Given the description of an element on the screen output the (x, y) to click on. 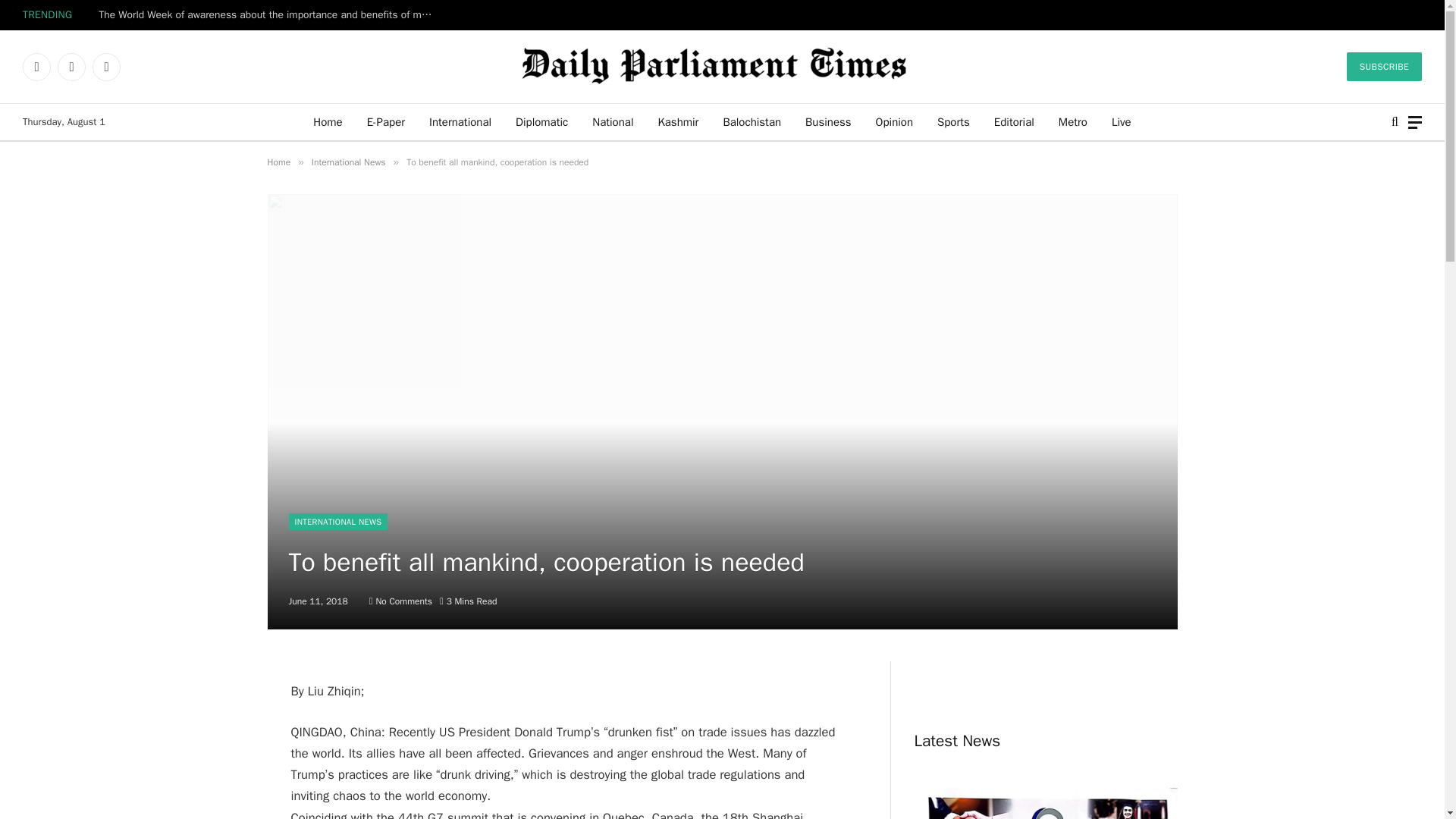
Kashmir (677, 122)
Balochistan (751, 122)
Opinion (893, 122)
Facebook (36, 67)
Business (828, 122)
E-Paper (385, 122)
Sports (952, 122)
Metro (1072, 122)
International (459, 122)
Live (1120, 122)
Editorial (1013, 122)
Instagram (106, 67)
Diplomatic (541, 122)
Home (327, 122)
SUBSCRIBE (1384, 66)
